Given the description of an element on the screen output the (x, y) to click on. 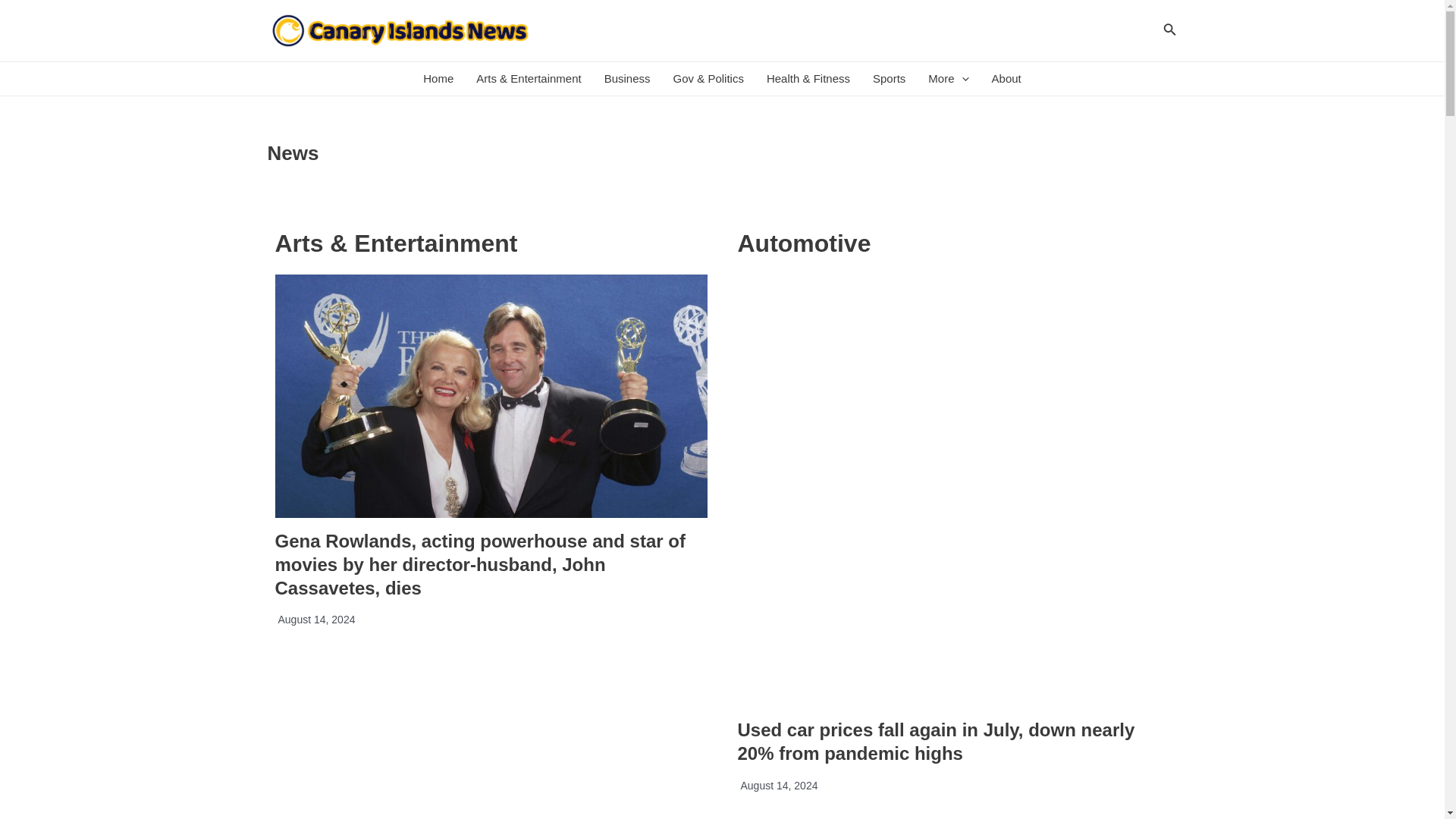
Home (438, 78)
About (1005, 78)
Business (627, 78)
More (948, 78)
Sports (889, 78)
